Given the description of an element on the screen output the (x, y) to click on. 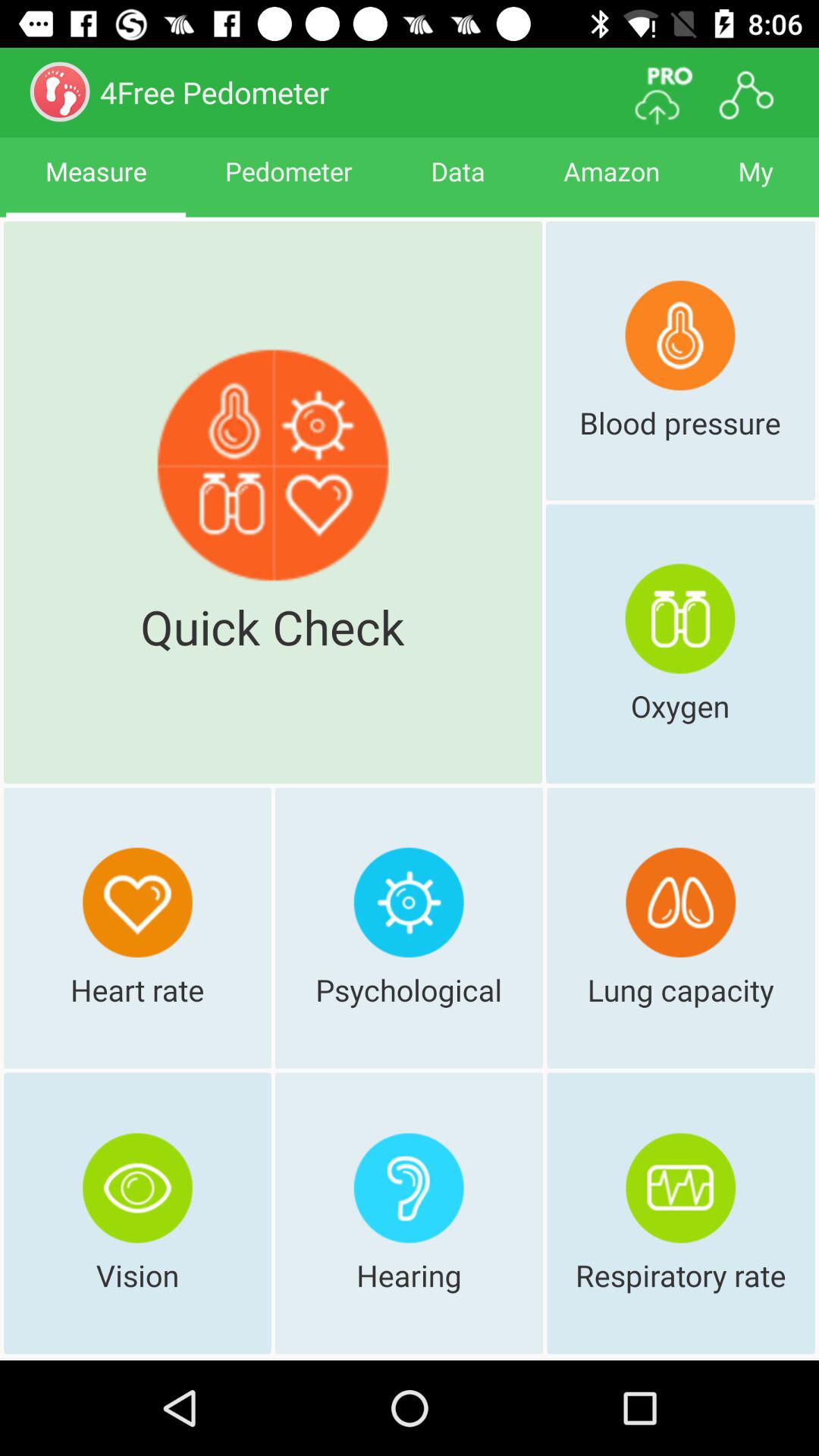
press item to the right of amazon icon (755, 185)
